Given the description of an element on the screen output the (x, y) to click on. 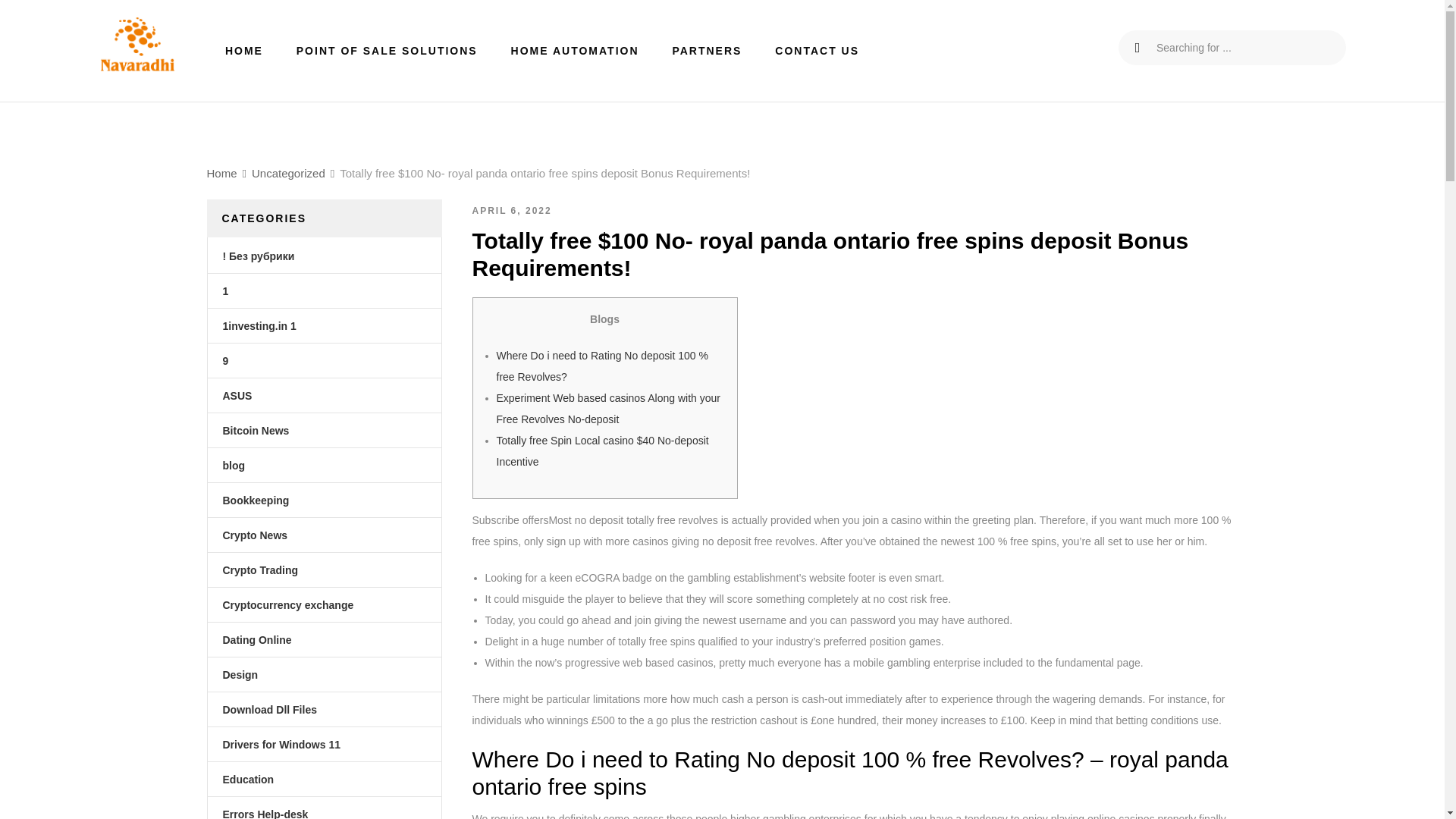
HOME AUTOMATION (575, 50)
POINT OF SALE SOLUTIONS (387, 50)
HOME (244, 50)
